Given the description of an element on the screen output the (x, y) to click on. 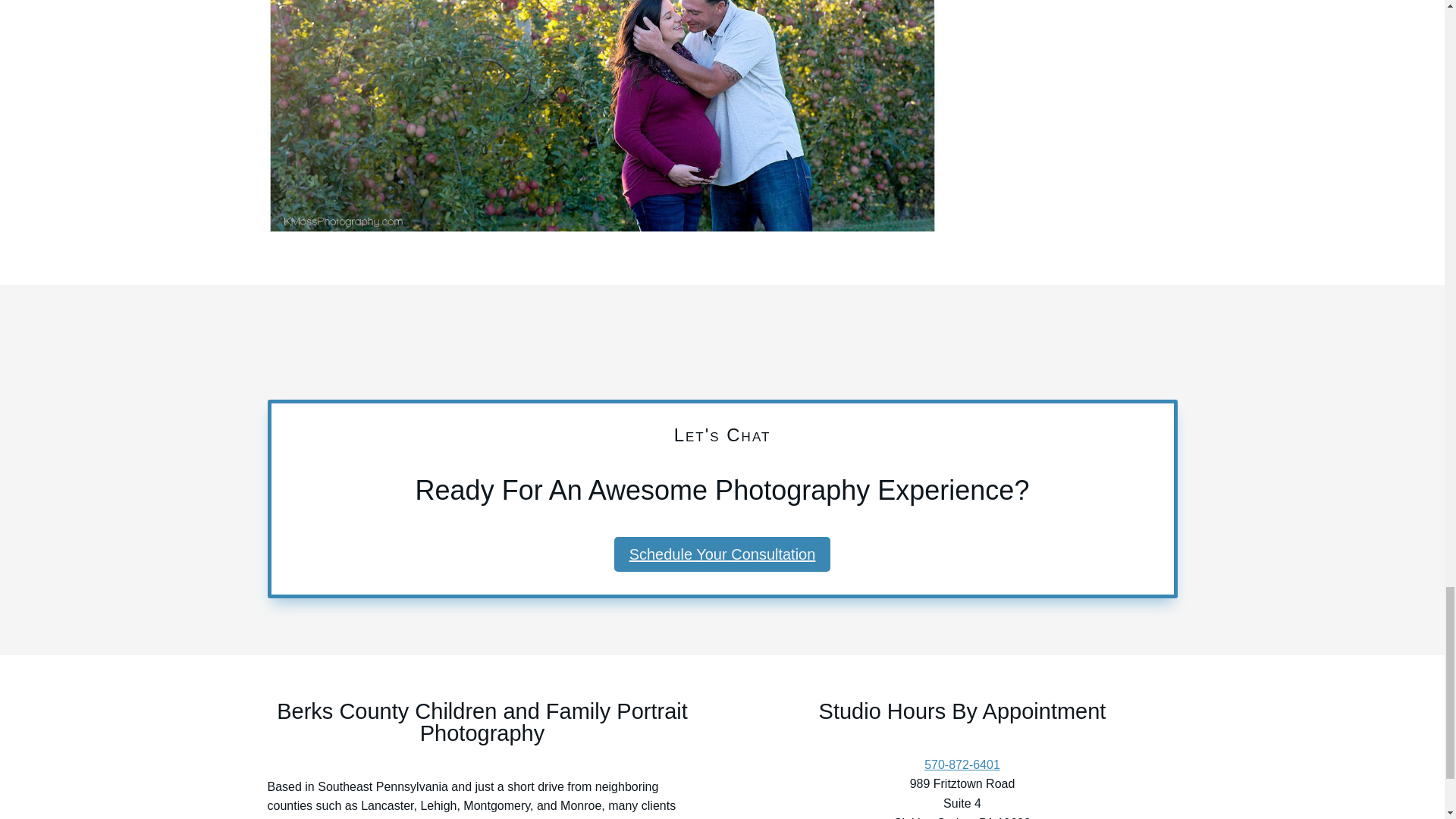
570-872-6401 (962, 764)
Schedule Your Consultation (722, 554)
